Given the description of an element on the screen output the (x, y) to click on. 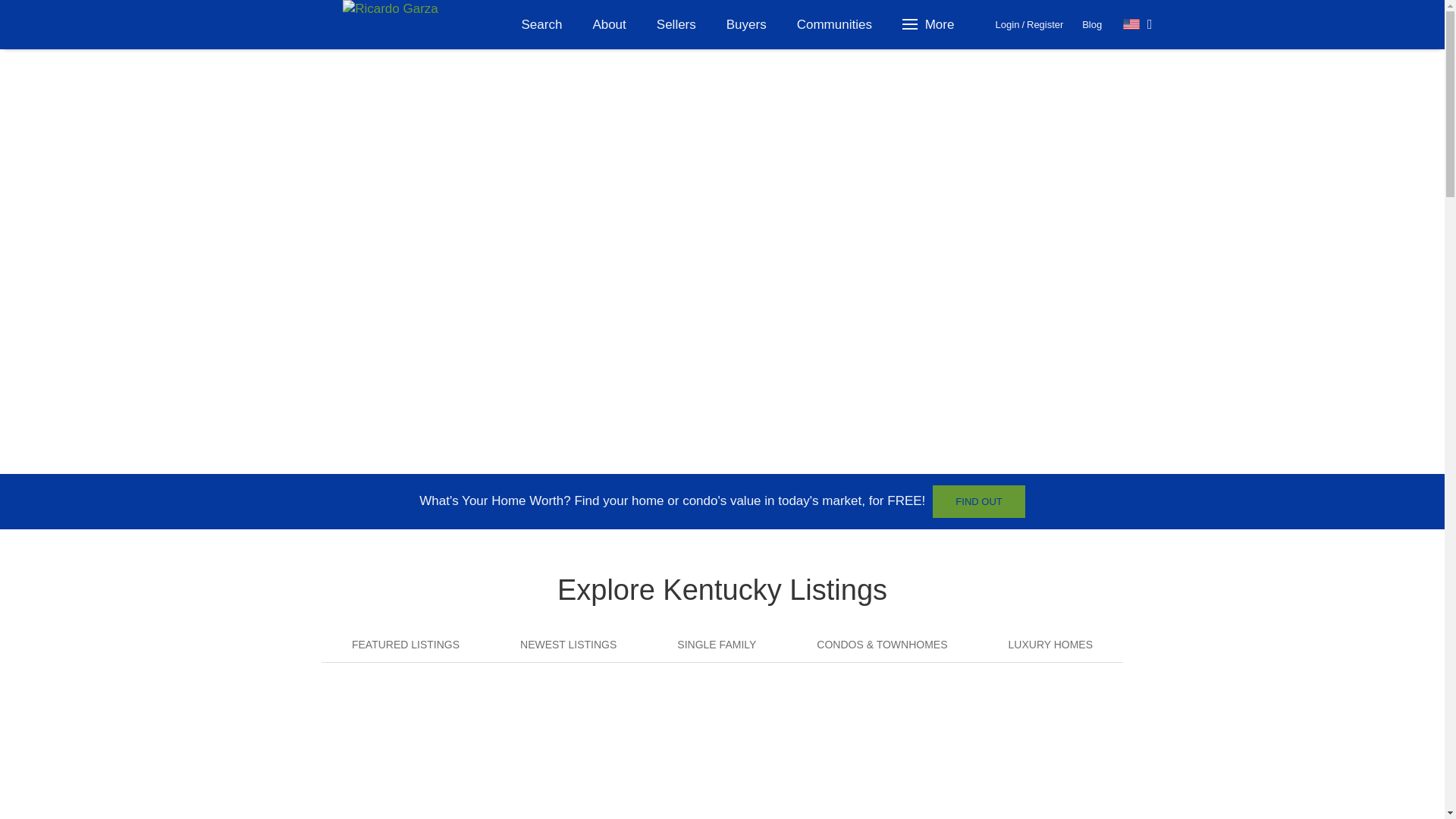
About (608, 24)
More (930, 24)
Select Language (1137, 24)
Blog (1091, 24)
Sellers (676, 24)
Buyers (746, 24)
Search (542, 24)
Communities (833, 24)
Register (1044, 24)
